Given the description of an element on the screen output the (x, y) to click on. 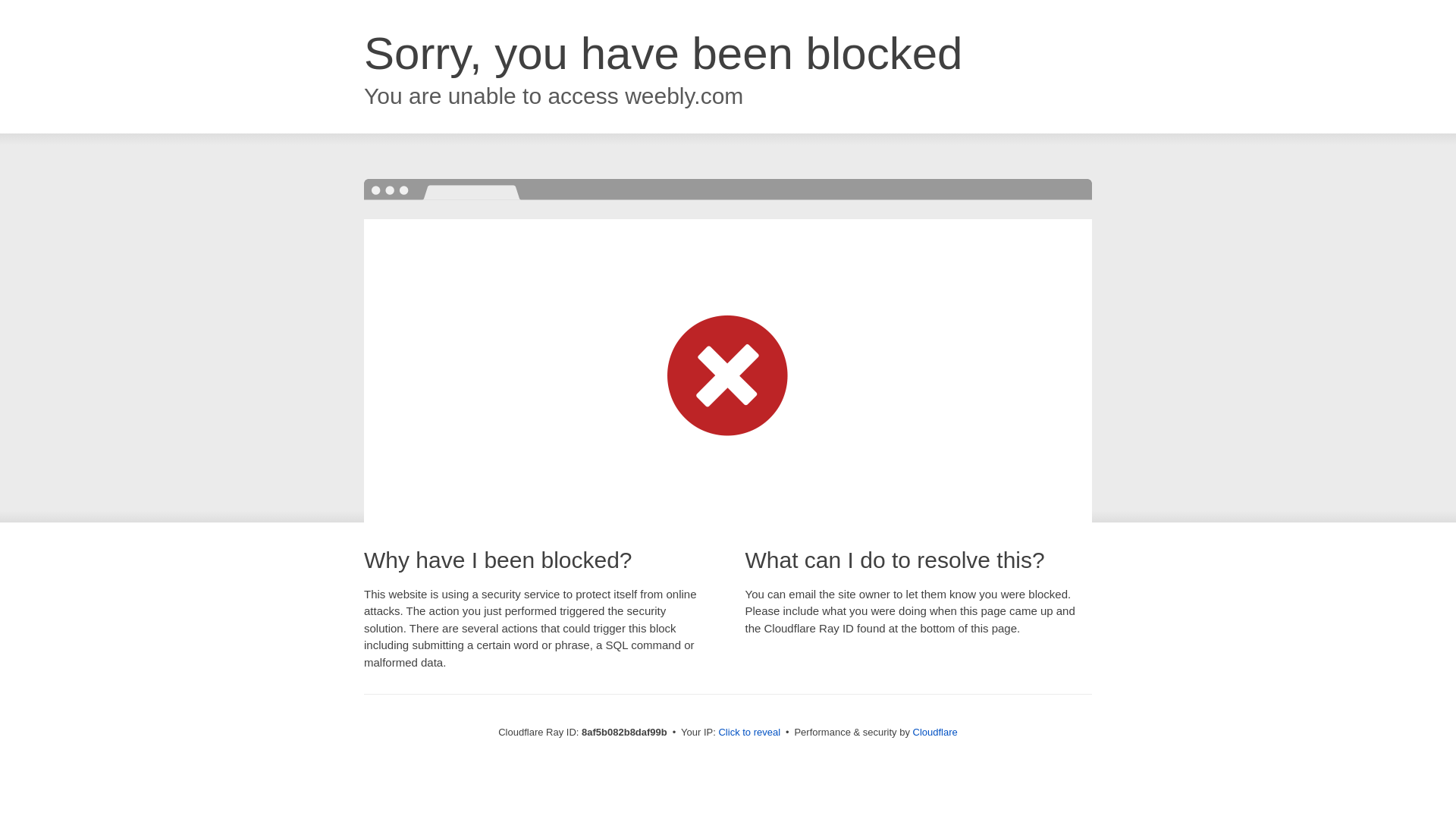
Cloudflare (935, 731)
Click to reveal (748, 732)
